Given the description of an element on the screen output the (x, y) to click on. 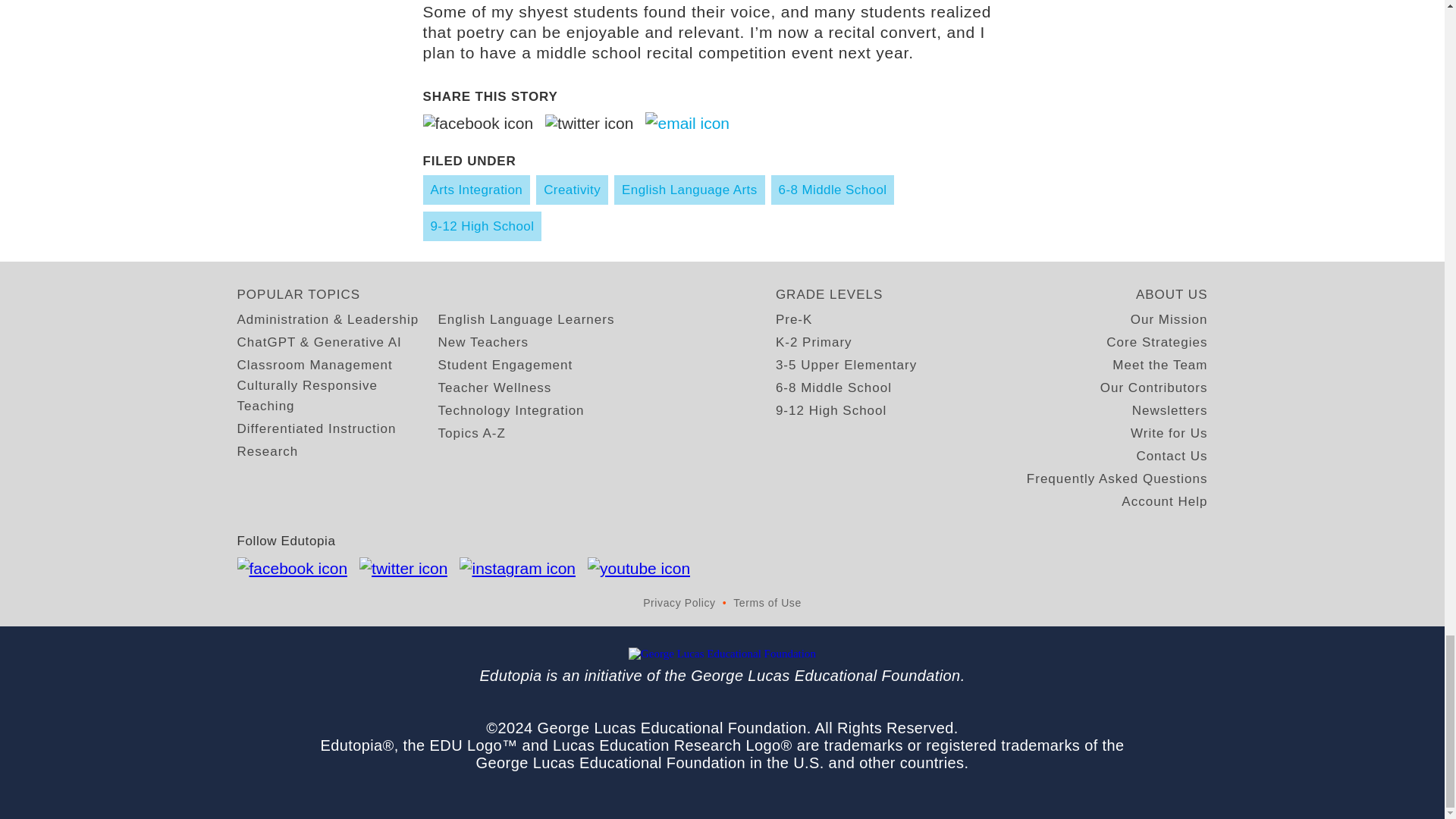
Arts Integration (477, 189)
English Language Arts (689, 189)
9-12 High School (482, 225)
Creativity (571, 189)
Culturally Responsive Teaching (336, 395)
6-8 Middle School (833, 189)
Classroom Management (313, 364)
English Language Learners (526, 319)
New Teachers (483, 342)
Student Engagement (505, 364)
Differentiated Instruction (315, 428)
Research (266, 451)
